Given the description of an element on the screen output the (x, y) to click on. 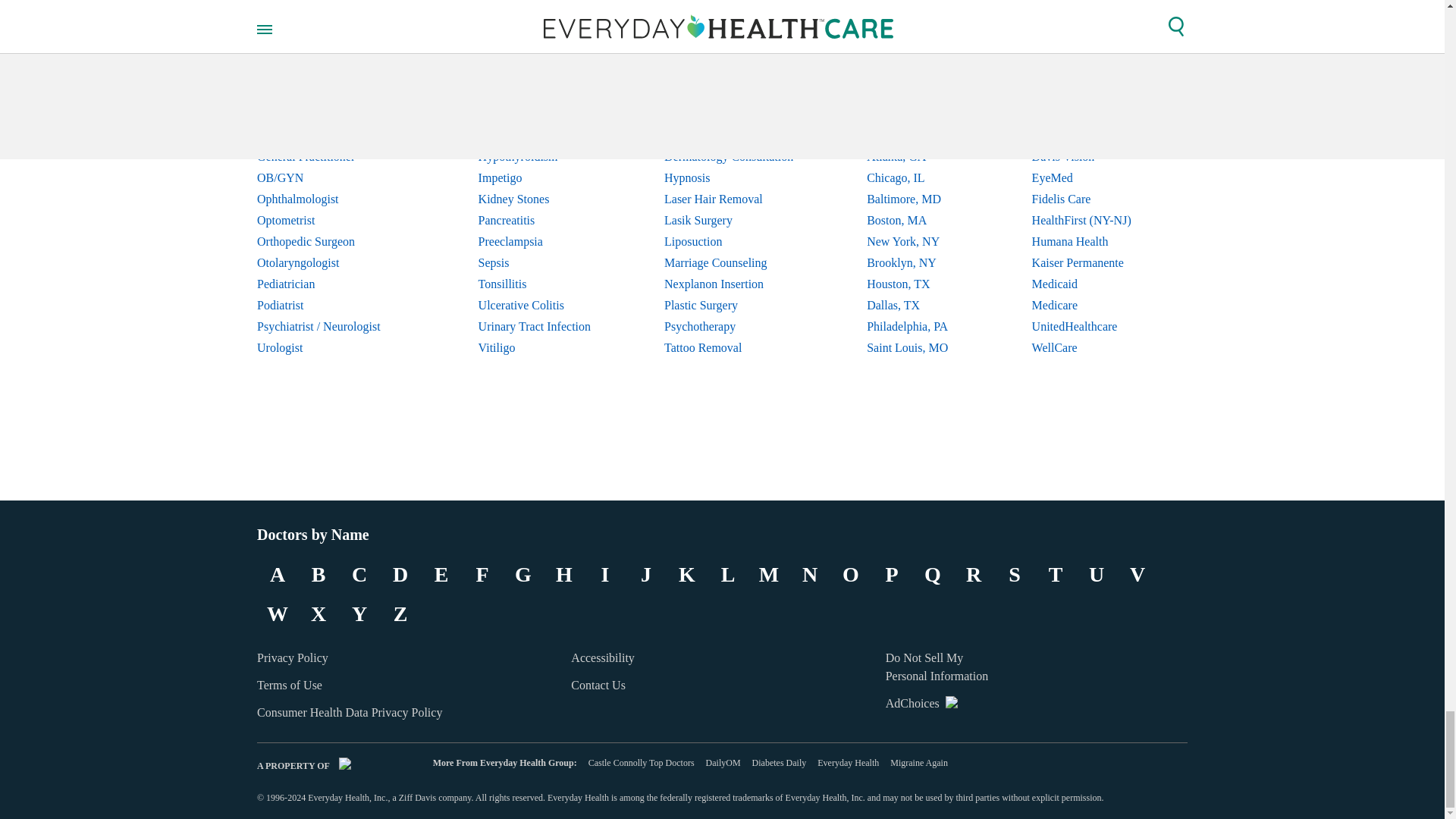
Dermatologist (330, 93)
Hemorrhoids (535, 135)
Endocrinologist (330, 114)
Optometrist (330, 219)
Otolaryngologist (330, 262)
Fibromyalgia (535, 114)
Podiatrist (330, 305)
Cardiologist (330, 71)
Diverticulitis (535, 93)
Kidney Stones (535, 199)
Urologist (330, 347)
Addiction Medicine Specialist (330, 50)
Pediatrician (330, 283)
Pancreatitis (535, 219)
Preeclampsia (535, 241)
